Given the description of an element on the screen output the (x, y) to click on. 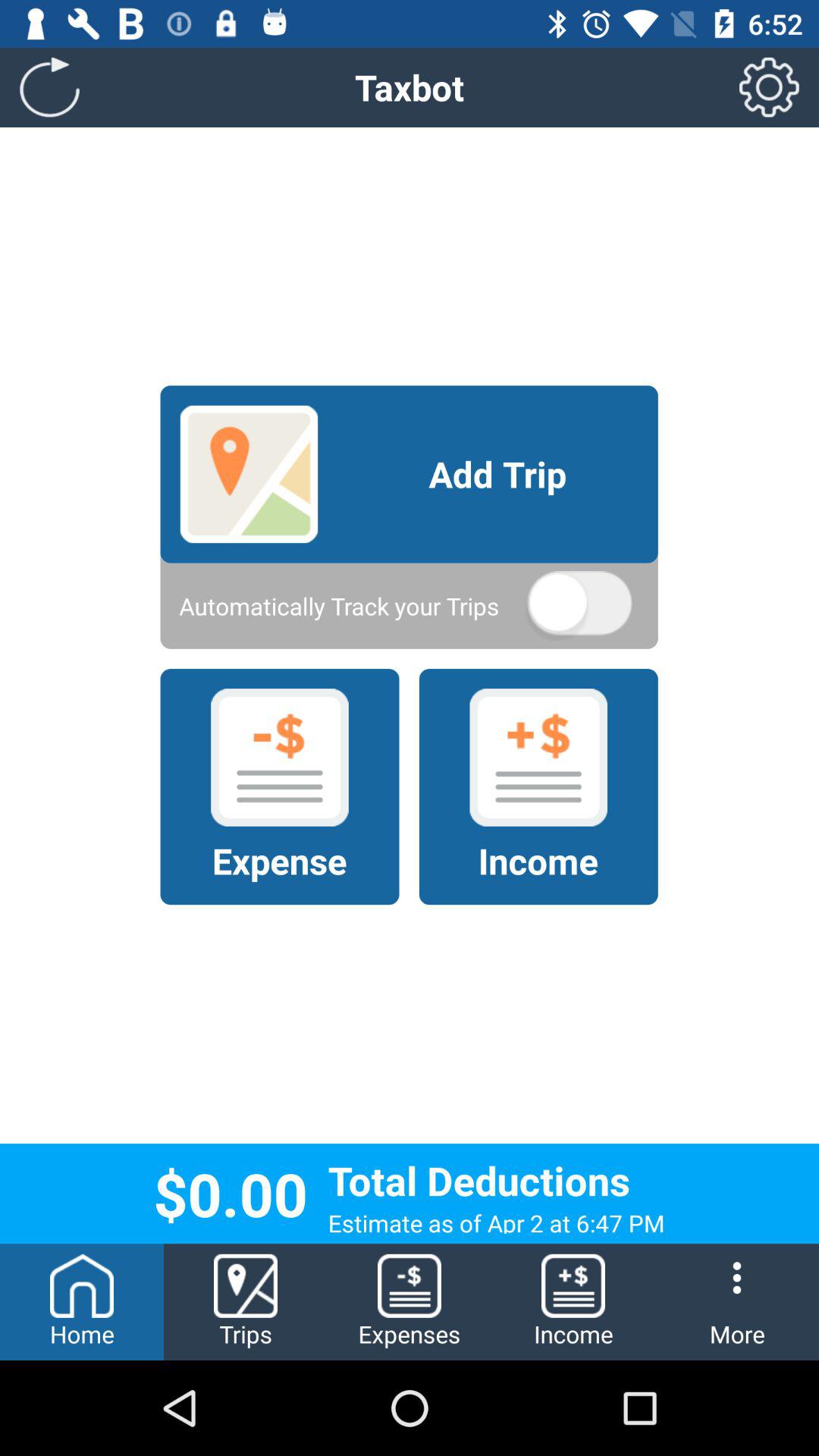
turn on the icon next to the income item (409, 1301)
